Given the description of an element on the screen output the (x, y) to click on. 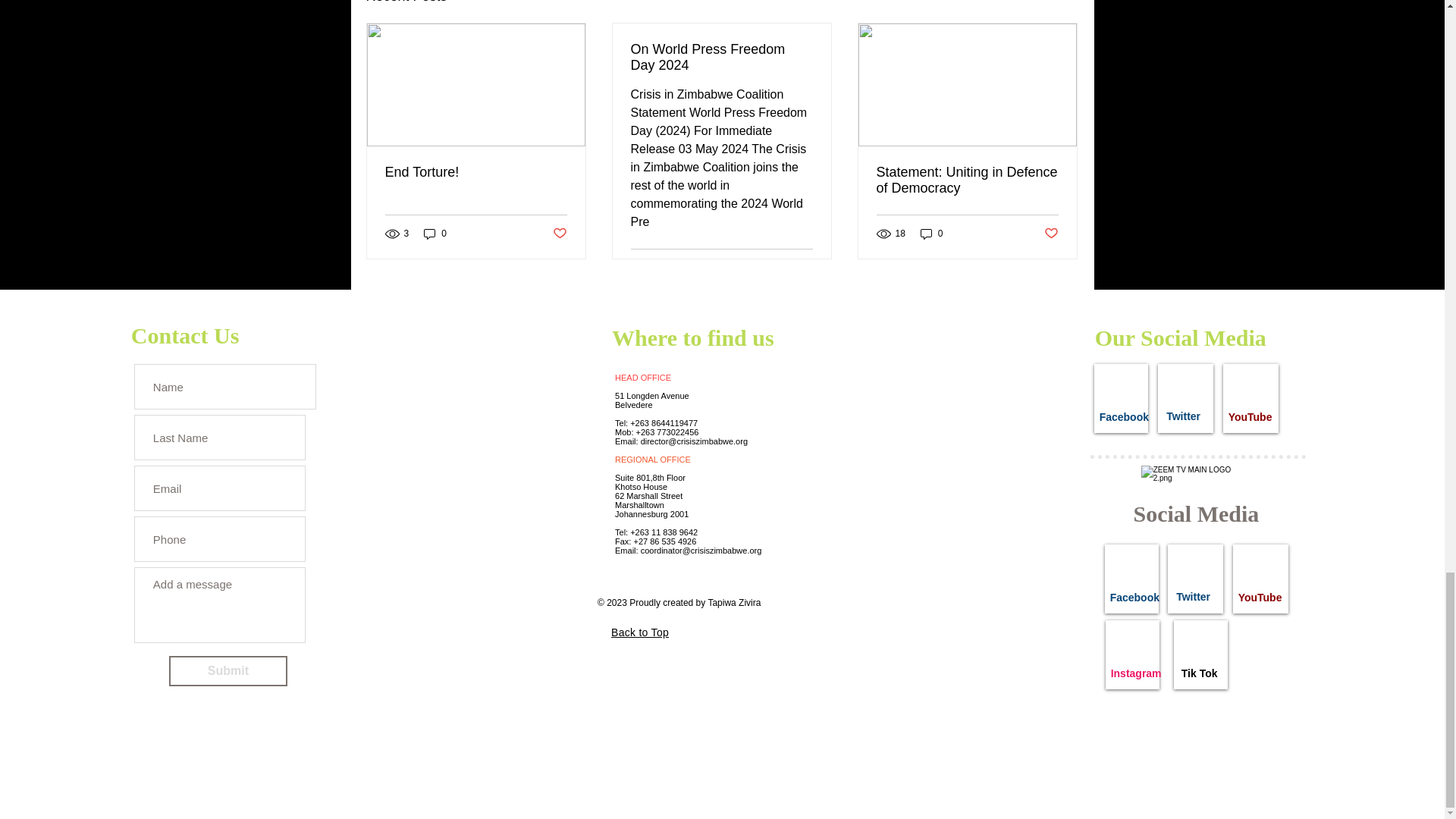
See All (1061, 3)
